Given the description of an element on the screen output the (x, y) to click on. 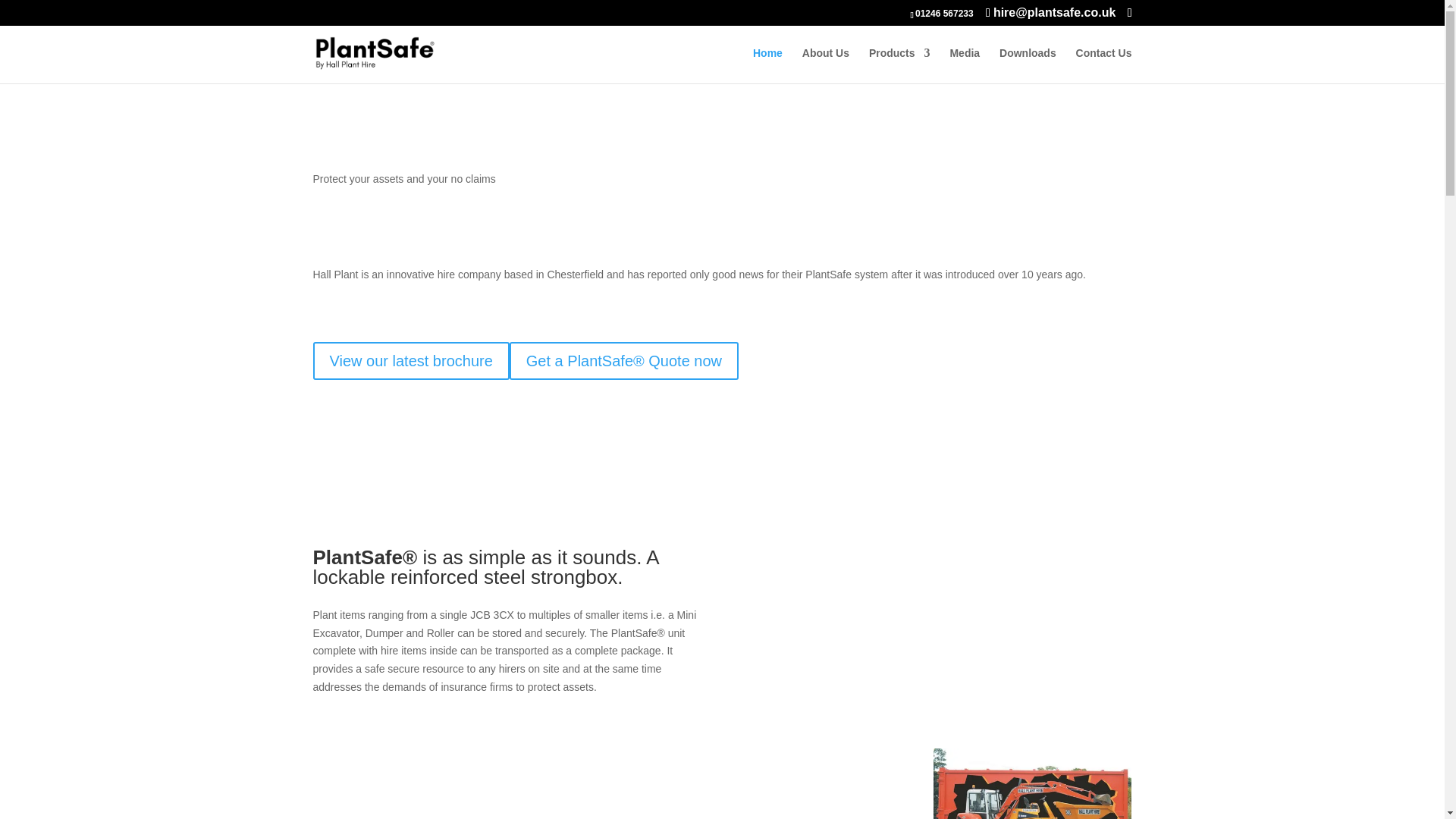
About Us (825, 65)
Downloads (1027, 65)
View our latest brochure (410, 361)
Products (899, 65)
hph-cutout (1032, 783)
Contact Us (1103, 65)
